Given the description of an element on the screen output the (x, y) to click on. 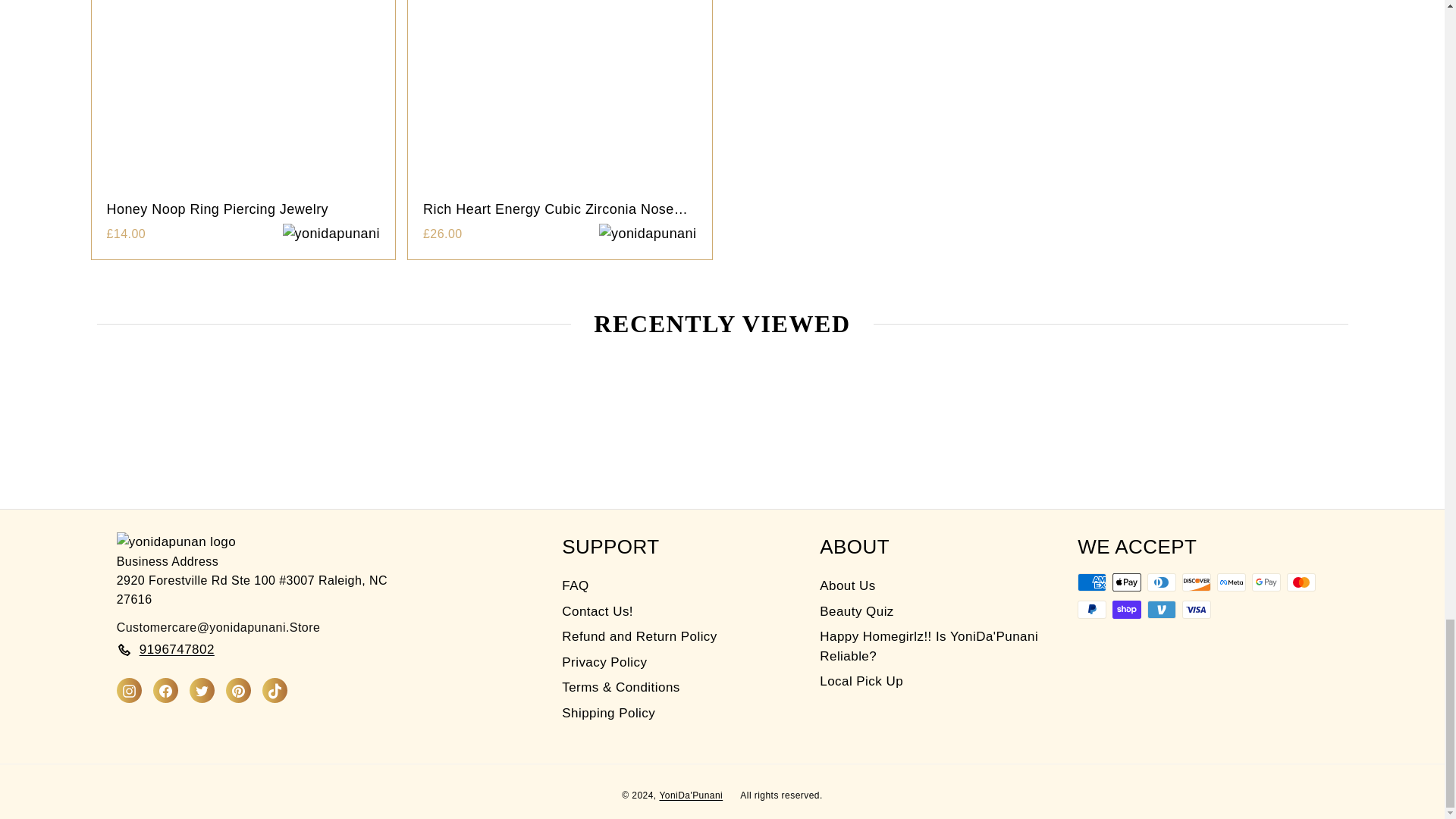
Add to cart (331, 233)
YoniDa'Punani on TikTok (274, 690)
YoniDa'Punani on Instagram (128, 690)
YoniDa'Punani on Pinterest (237, 690)
YoniDa'Punani on Facebook (164, 690)
Add to cart (647, 233)
YoniDa'Punani on Twitter (201, 690)
